Given the description of an element on the screen output the (x, y) to click on. 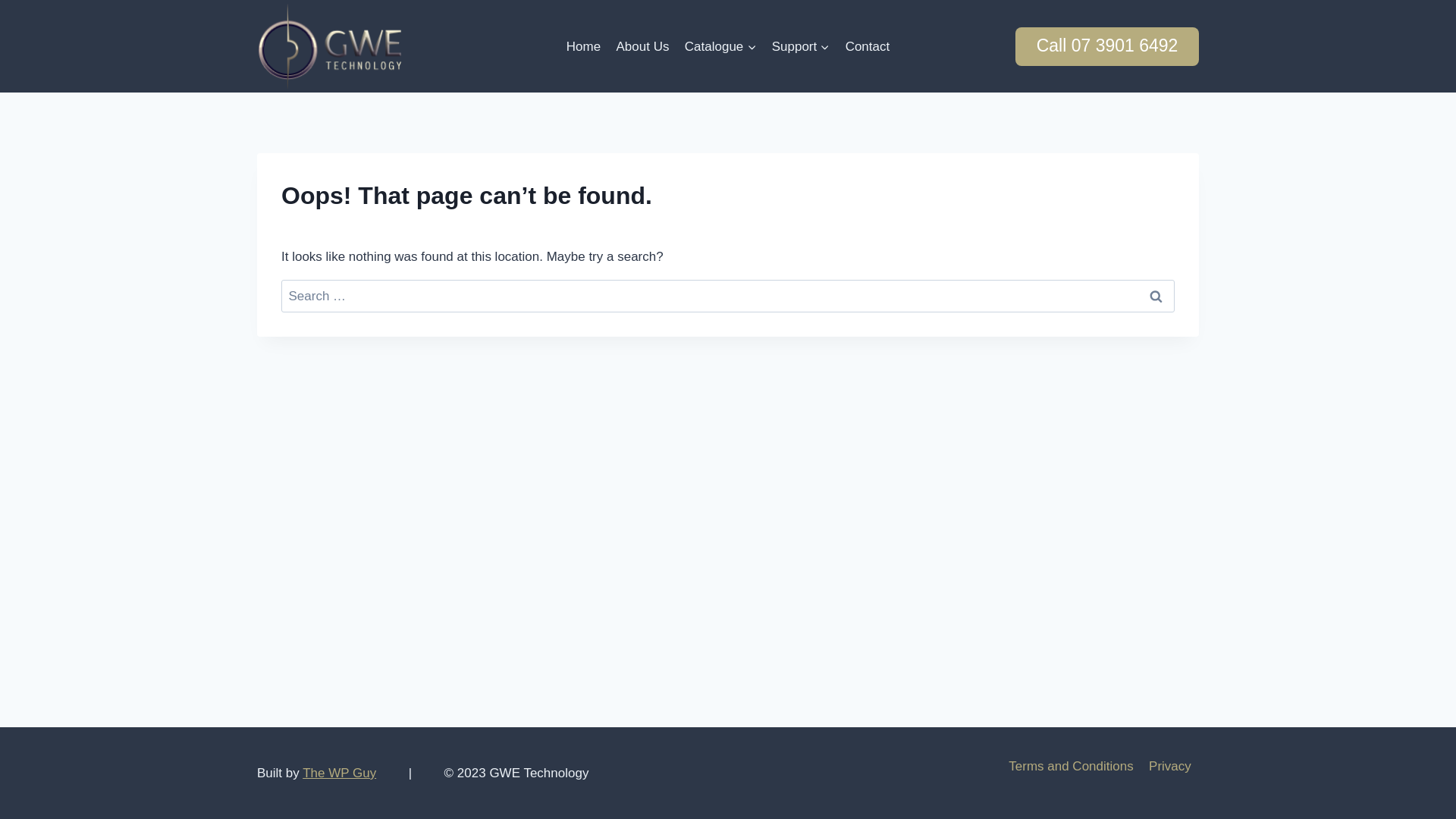
Contact Element type: text (867, 46)
Catalogue Element type: text (720, 46)
Terms and Conditions Element type: text (1071, 766)
Privacy Element type: text (1169, 766)
Support Element type: text (800, 46)
About Us Element type: text (642, 46)
Search Element type: text (1155, 295)
Call 07 3901 6492 Element type: text (1106, 46)
The WP Guy Element type: text (339, 772)
Home Element type: text (583, 46)
